Given the description of an element on the screen output the (x, y) to click on. 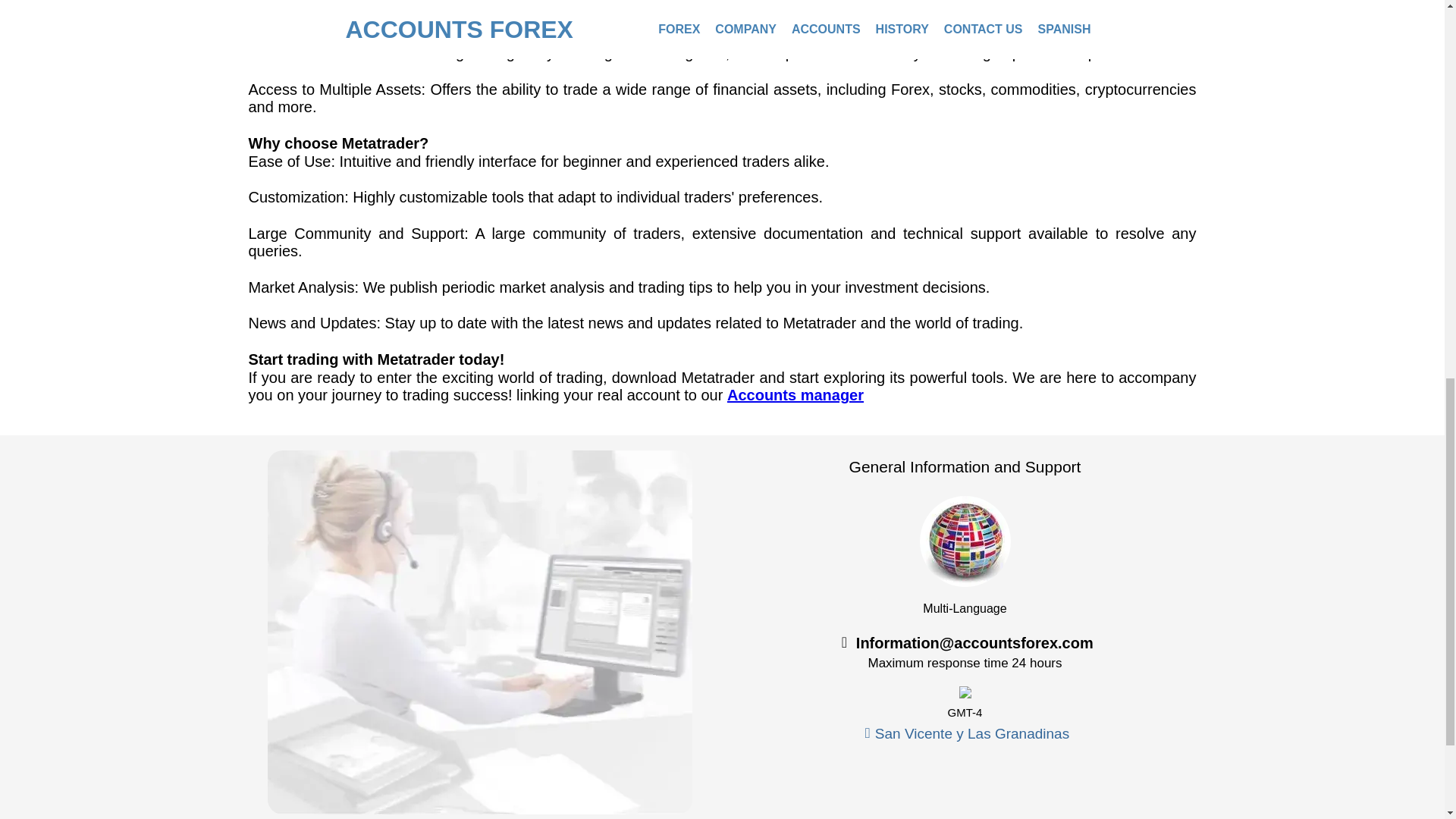
Multi-Language (964, 541)
Hour Forex (964, 692)
Accounts manager (794, 394)
